Given the description of an element on the screen output the (x, y) to click on. 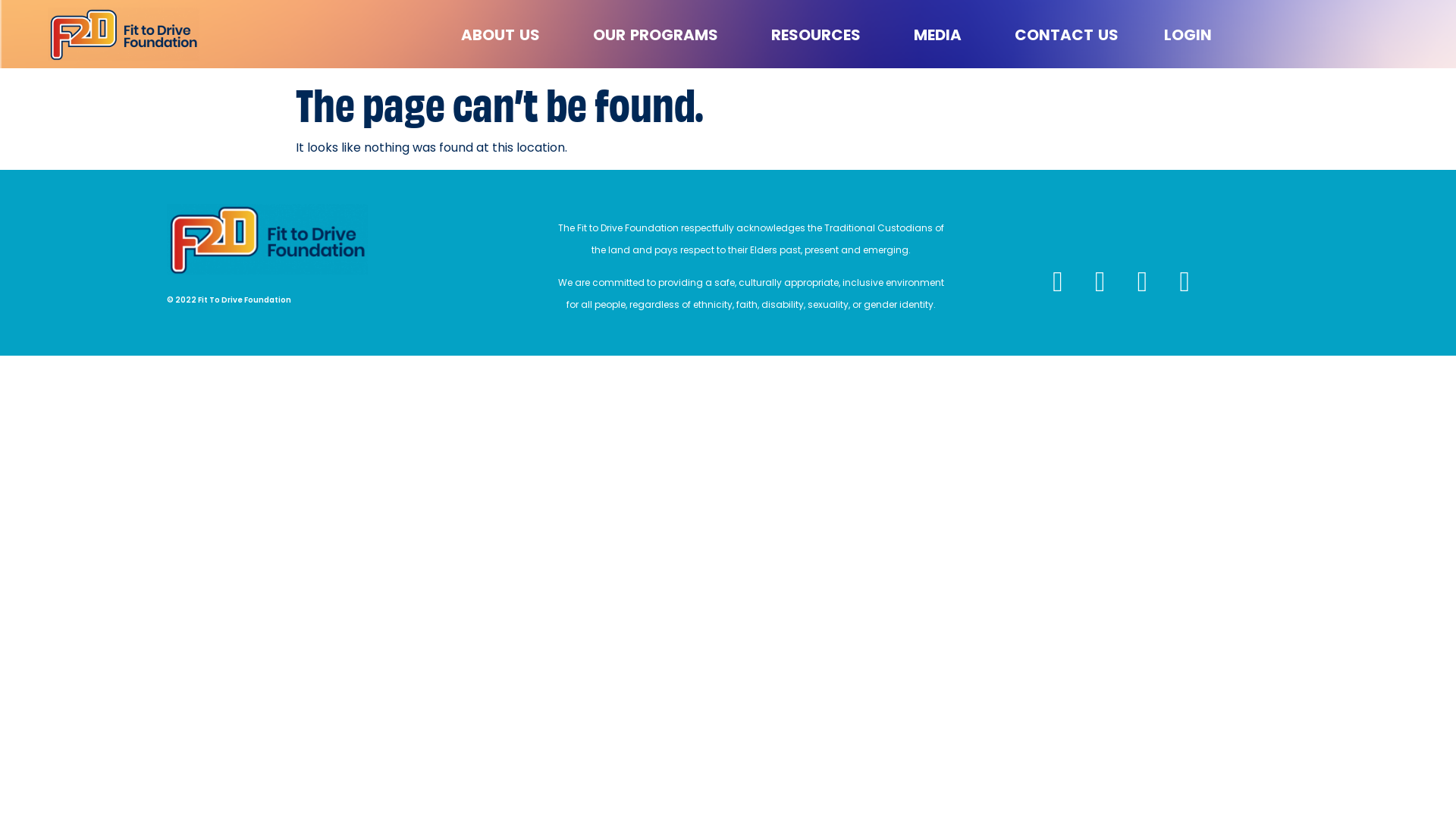
LOGIN Element type: text (1187, 34)
RESOURCES Element type: text (819, 34)
ABOUT US Element type: text (503, 34)
OUR PROGRAMS Element type: text (659, 34)
MEDIA Element type: text (941, 34)
CONTACT US Element type: text (1066, 34)
